Given the description of an element on the screen output the (x, y) to click on. 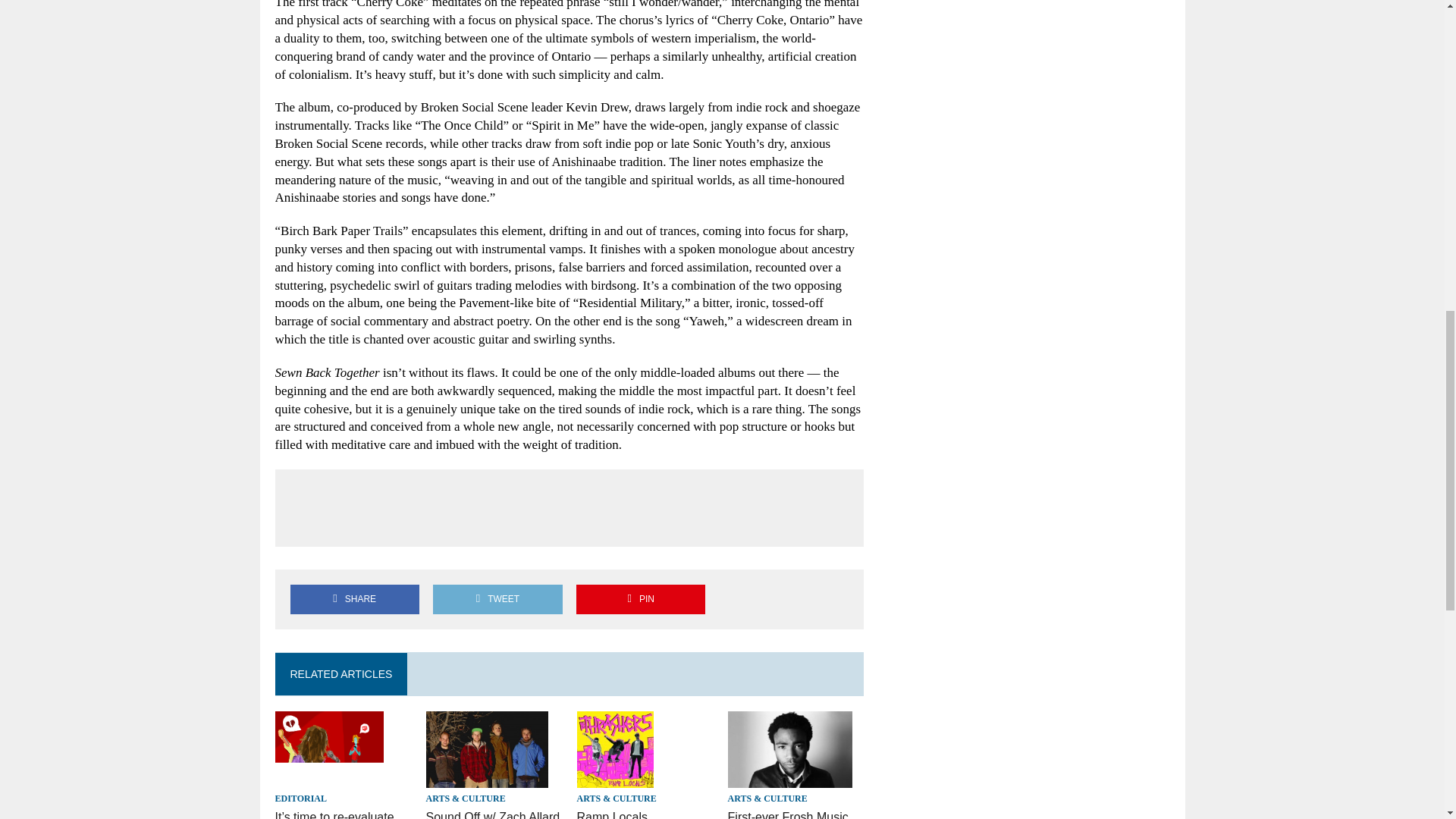
Tweet This Post (497, 599)
Ramp Locals (614, 777)
Ramp Locals (611, 814)
Pin This Post (640, 599)
Share on Facebook (354, 599)
